Given the description of an element on the screen output the (x, y) to click on. 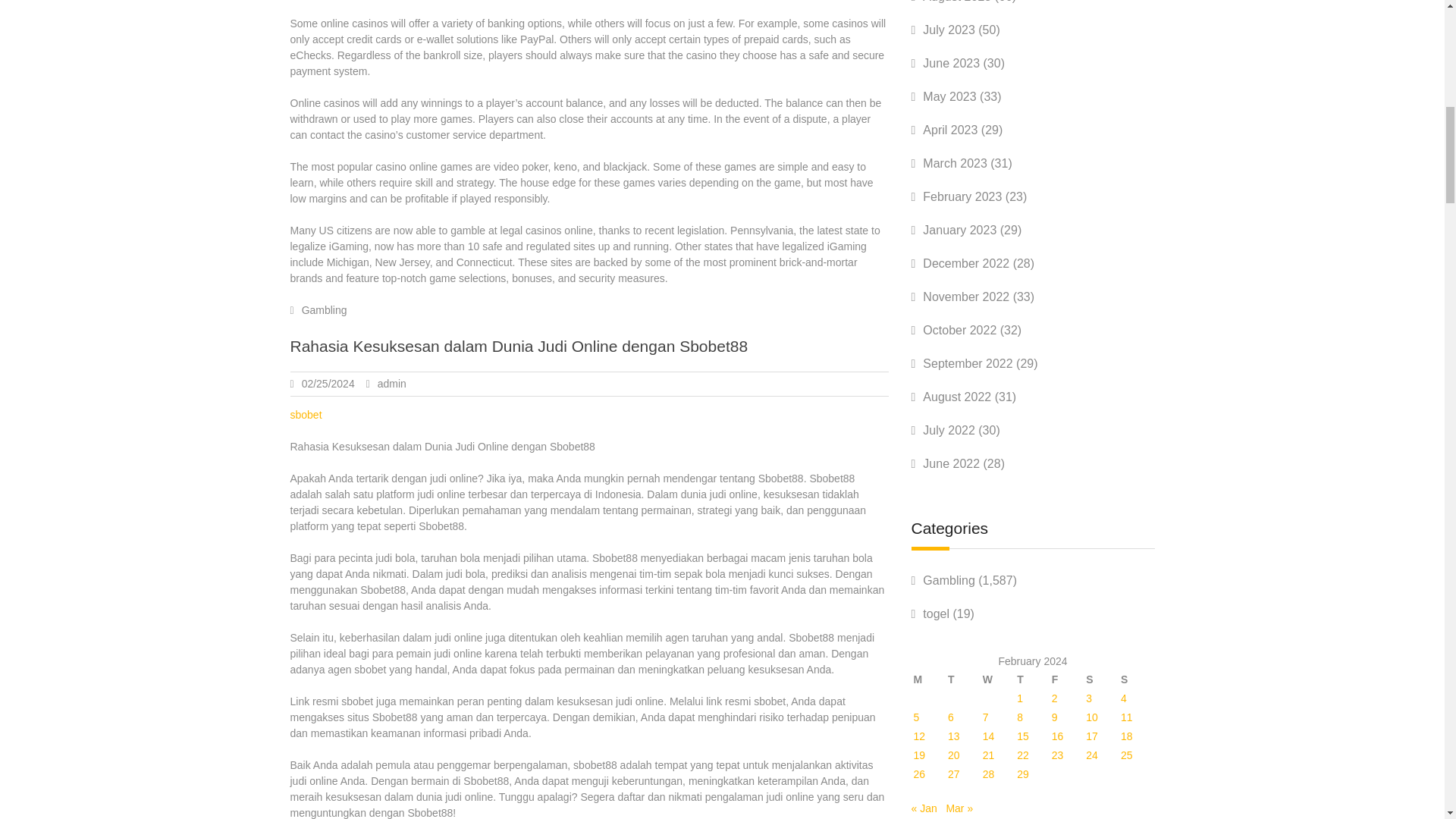
Rahasia Kesuksesan dalam Dunia Judi Online dengan Sbobet88 (518, 345)
Tuesday (963, 679)
Sunday (1136, 679)
sbobet (305, 414)
Saturday (1101, 679)
Thursday (1032, 679)
admin (391, 383)
Wednesday (997, 679)
Friday (1067, 679)
Monday (929, 679)
Gambling (324, 309)
